Given the description of an element on the screen output the (x, y) to click on. 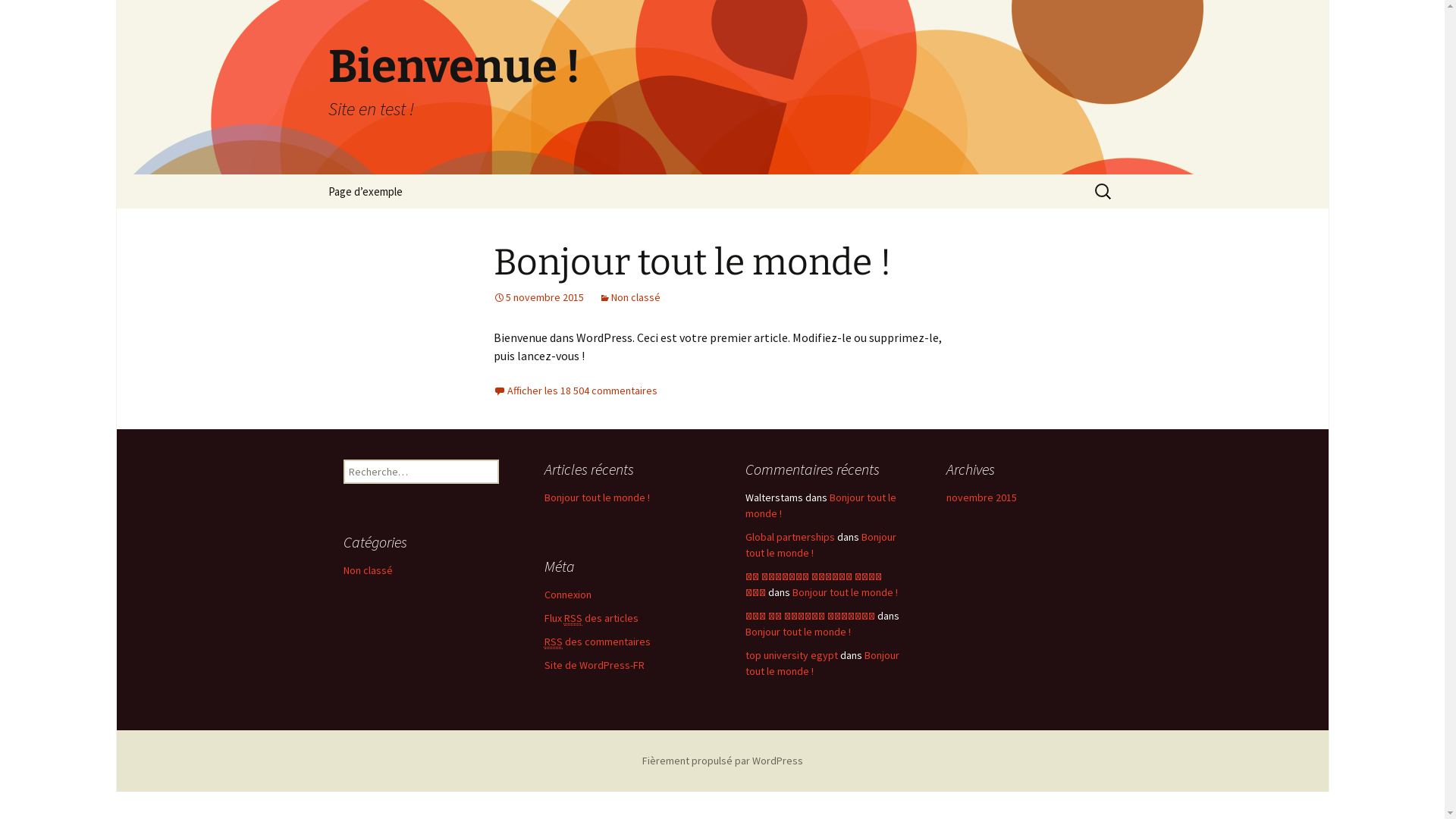
Bonjour tout le monde ! Element type: text (844, 592)
Site de WordPress-FR Element type: text (594, 664)
Bonjour tout le monde ! Element type: text (819, 505)
Bonjour tout le monde ! Element type: text (691, 262)
Bonjour tout le monde ! Element type: text (596, 497)
Afficher les 18 504 commentaires Element type: text (574, 390)
Rechercher Element type: text (44, 15)
RSS des commentaires Element type: text (597, 641)
Flux RSS des articles Element type: text (591, 618)
Bonjour tout le monde ! Element type: text (797, 631)
Aller au contenu principal Element type: text (312, 174)
5 novembre 2015 Element type: text (537, 297)
novembre 2015 Element type: text (981, 497)
Global partnerships Element type: text (789, 536)
top university egypt Element type: text (790, 655)
Bonjour tout le monde ! Element type: text (819, 544)
Bienvenue !
Site en test ! Element type: text (721, 87)
Rechercher Element type: text (18, 16)
Connexion Element type: text (567, 594)
Bonjour tout le monde ! Element type: text (821, 662)
